Given the description of an element on the screen output the (x, y) to click on. 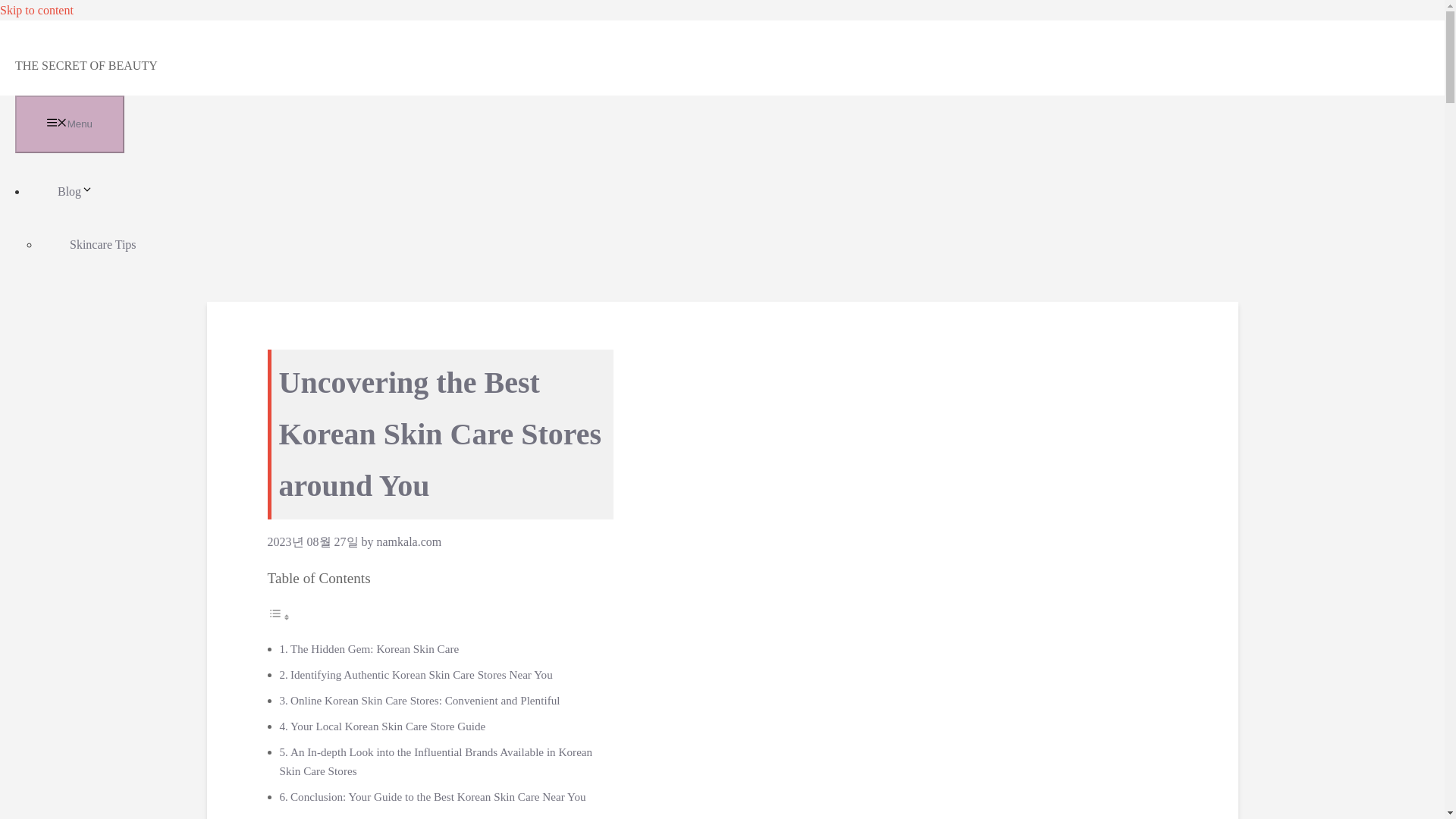
Your Local Korean Skin Care Store Guide (386, 725)
Blog (90, 191)
namkala.com (408, 541)
Online Korean Skin Care Stores: Convenient and Plentiful (424, 699)
Conclusion: Your Guide to the Best Korean Skin Care Near You (437, 796)
The Hidden Gem: Korean Skin Care (373, 648)
THE SECRET OF BEAUTY (85, 65)
Related Posts (320, 817)
Online Korean Skin Care Stores: Convenient and Plentiful (424, 699)
Conclusion: Your Guide to the Best Korean Skin Care Near You (437, 796)
Identifying Authentic Korean Skin Care Stores Near You (421, 674)
Skincare Tips (103, 244)
Skip to content (37, 10)
